Given the description of an element on the screen output the (x, y) to click on. 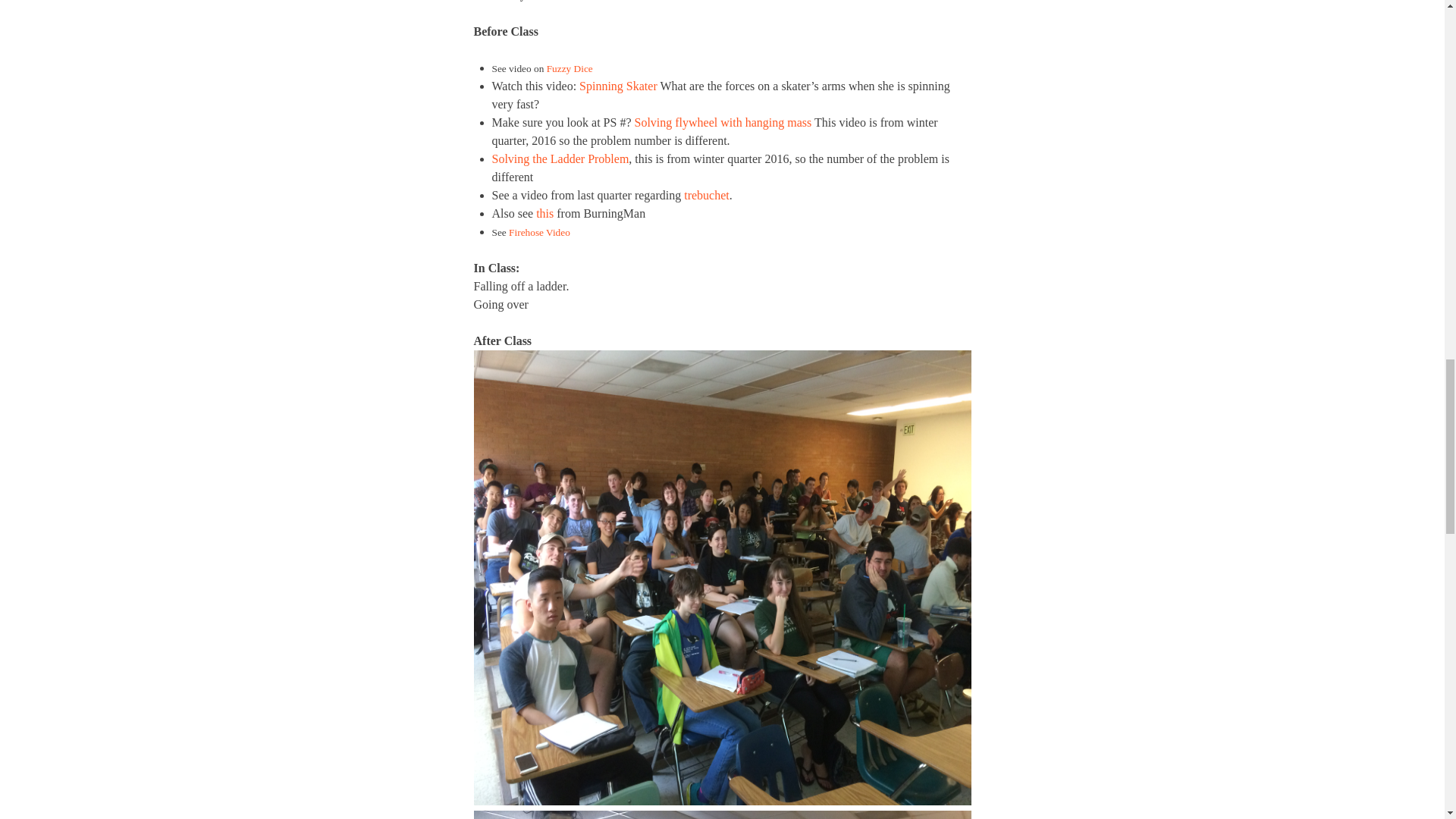
trebuchet (706, 195)
Solving flywheel with hanging mass (721, 122)
this (542, 213)
Firehose Video (539, 232)
Spinning Skater (618, 85)
Solving the Ladder Problem (560, 158)
Fuzzy Dice (569, 68)
class right.jpg (722, 814)
